Given the description of an element on the screen output the (x, y) to click on. 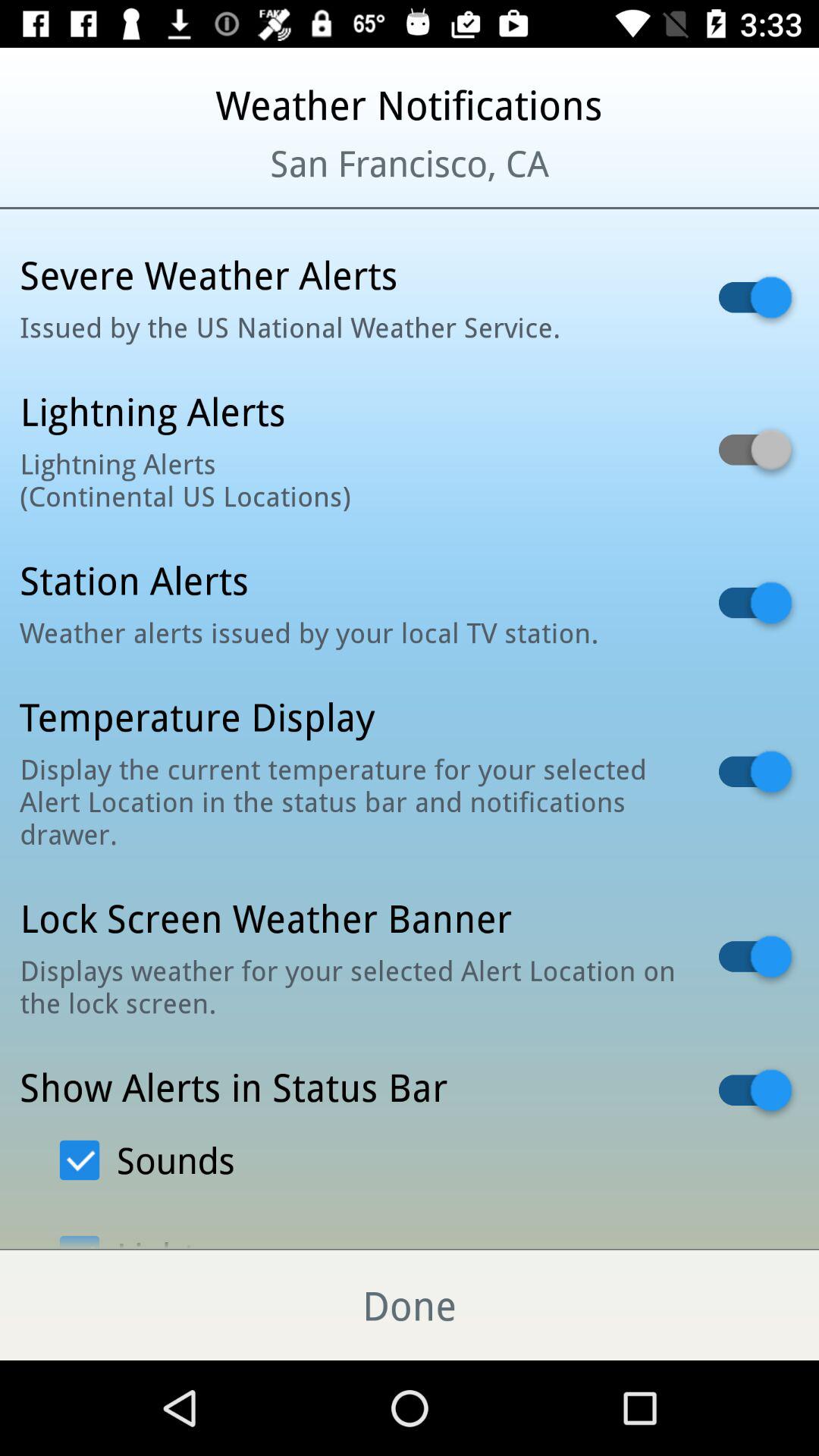
flip to display the current icon (349, 801)
